Given the description of an element on the screen output the (x, y) to click on. 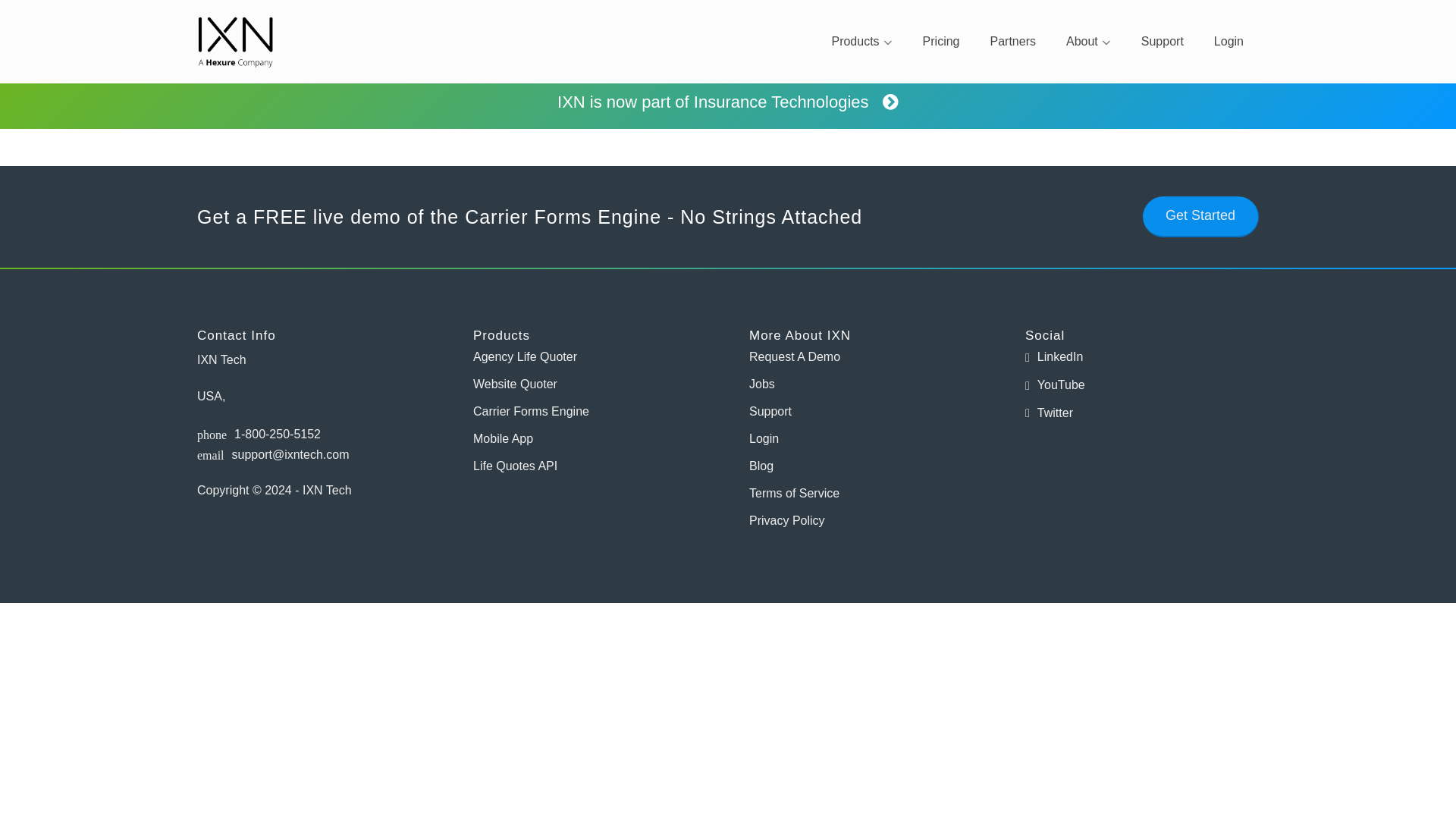
Pricing (941, 41)
Terms of Service (865, 493)
Products (861, 41)
Partners (1013, 41)
Jobs (865, 384)
Support (865, 411)
Blog (865, 466)
phone1-800-250-5152 (313, 434)
Login (865, 439)
Login (1228, 41)
Life Quotes API (589, 466)
Support (1161, 41)
Request A Demo (865, 357)
Website Quoter (589, 384)
Mobile App (589, 439)
